Given the description of an element on the screen output the (x, y) to click on. 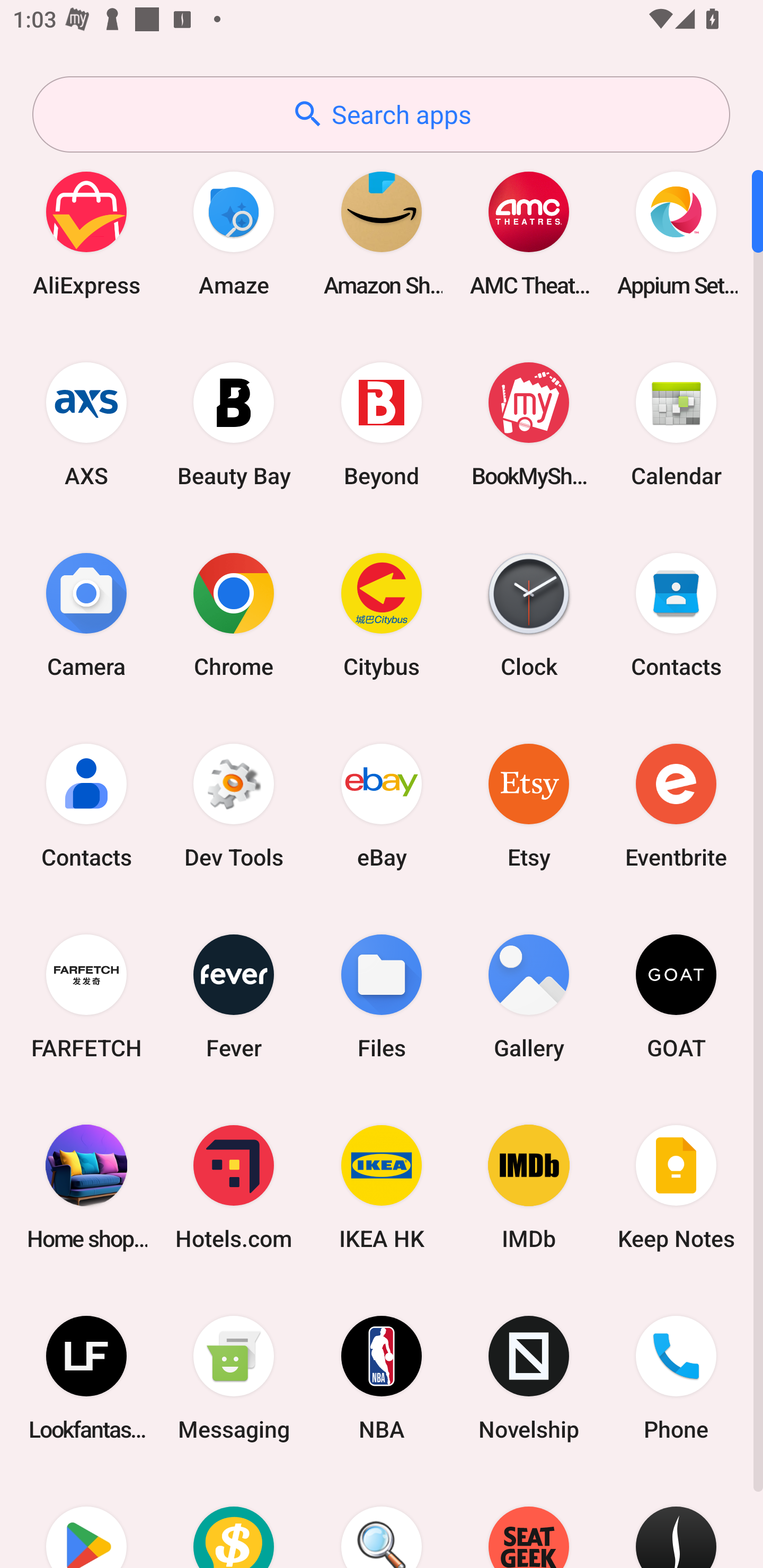
  Search apps (381, 114)
AliExpress (86, 233)
Amaze (233, 233)
Amazon Shopping (381, 233)
AMC Theatres (528, 233)
Appium Settings (676, 233)
AXS (86, 424)
Beauty Bay (233, 424)
Beyond (381, 424)
BookMyShow (528, 424)
Calendar (676, 424)
Camera (86, 614)
Chrome (233, 614)
Citybus (381, 614)
Clock (528, 614)
Contacts (676, 614)
Contacts (86, 805)
Dev Tools (233, 805)
eBay (381, 805)
Etsy (528, 805)
Eventbrite (676, 805)
FARFETCH (86, 996)
Fever (233, 996)
Files (381, 996)
Gallery (528, 996)
GOAT (676, 996)
Home shopping (86, 1186)
Hotels.com (233, 1186)
IKEA HK (381, 1186)
IMDb (528, 1186)
Keep Notes (676, 1186)
Lookfantastic (86, 1377)
Messaging (233, 1377)
NBA (381, 1377)
Novelship (528, 1377)
Phone (676, 1377)
